Given the description of an element on the screen output the (x, y) to click on. 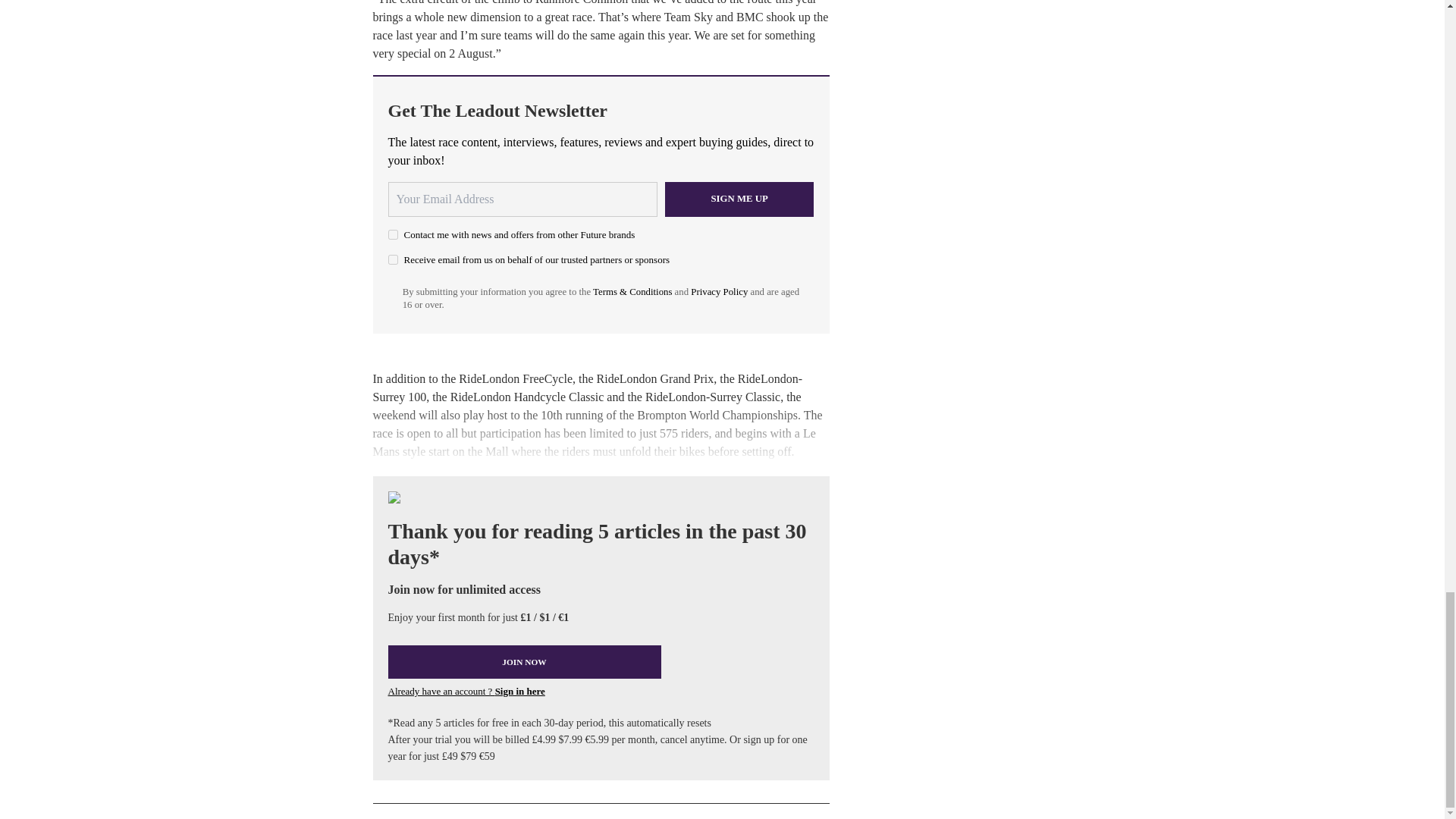
on (392, 234)
on (392, 259)
Sign me up (739, 199)
